Given the description of an element on the screen output the (x, y) to click on. 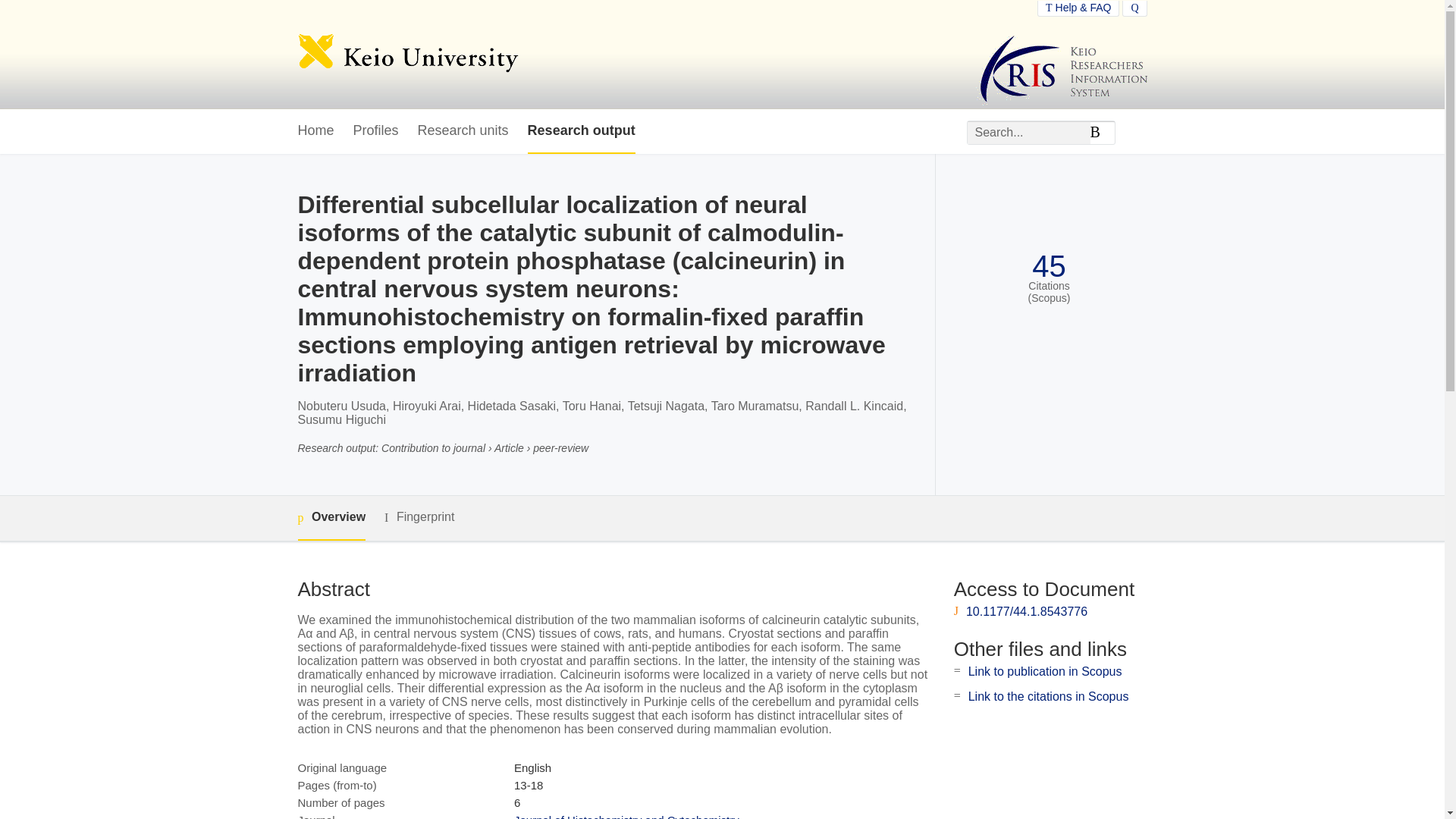
Research units (462, 130)
Keio University Home (407, 54)
Link to the citations in Scopus (1048, 696)
Overview (331, 518)
Research output (580, 130)
Link to publication in Scopus (1045, 671)
Fingerprint (419, 517)
Journal of Histochemistry and Cytochemistry (626, 816)
Profiles (375, 130)
45 (1048, 266)
